Given the description of an element on the screen output the (x, y) to click on. 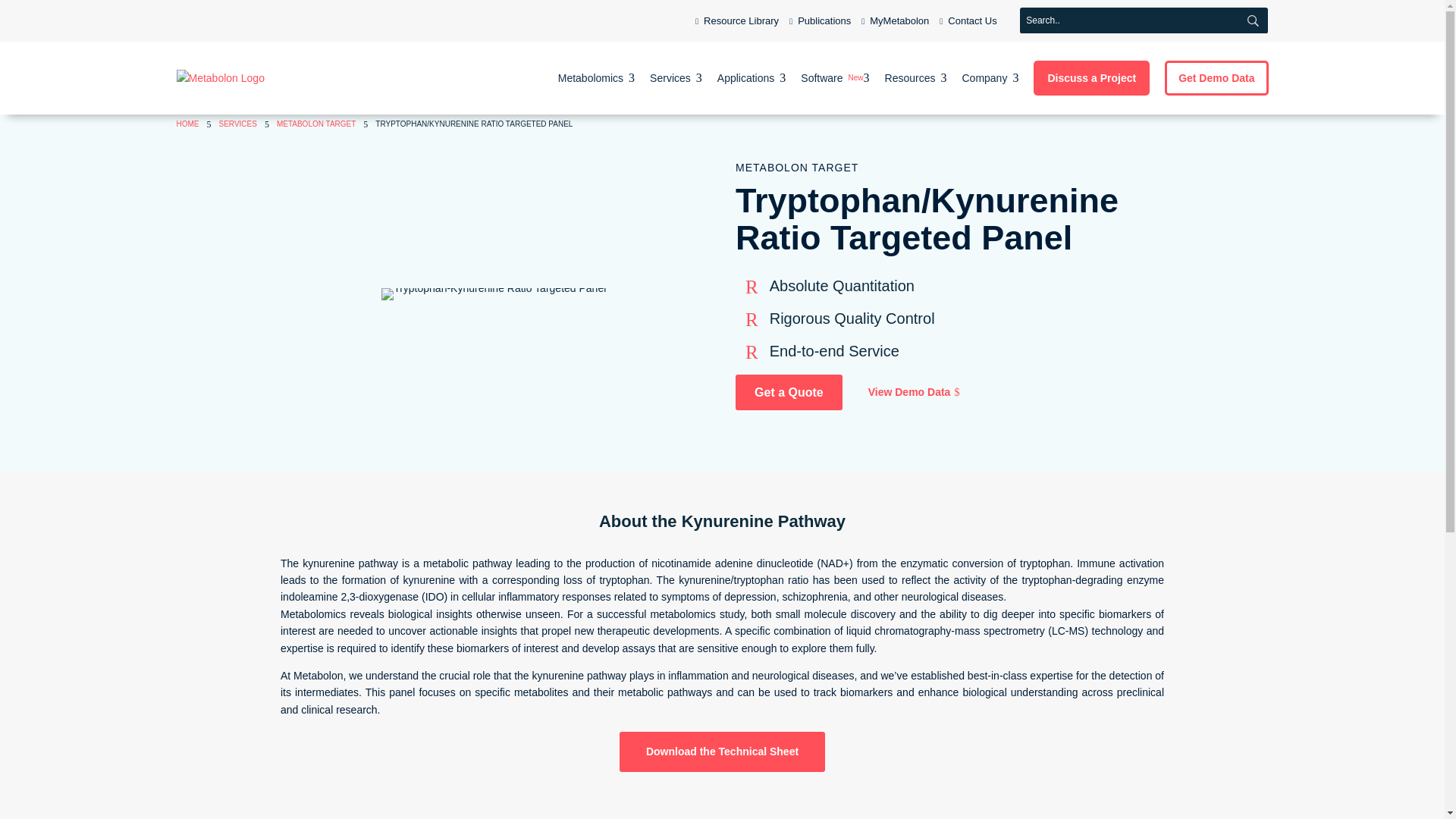
Tryptophan-Kynurenine Ratio Targeted Panel (493, 294)
Search.. (595, 77)
